Given the description of an element on the screen output the (x, y) to click on. 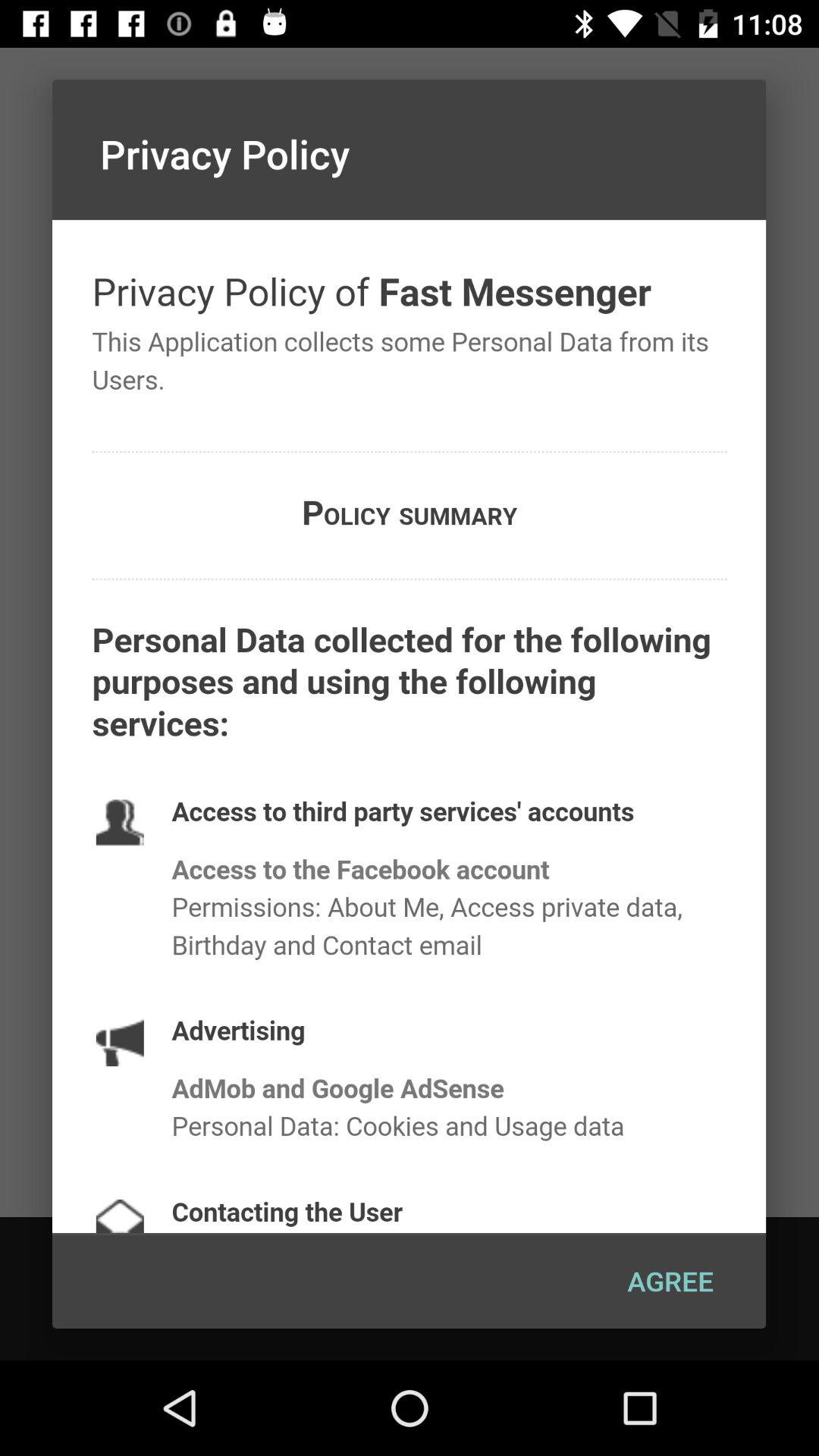
advertisement page (409, 726)
